Given the description of an element on the screen output the (x, y) to click on. 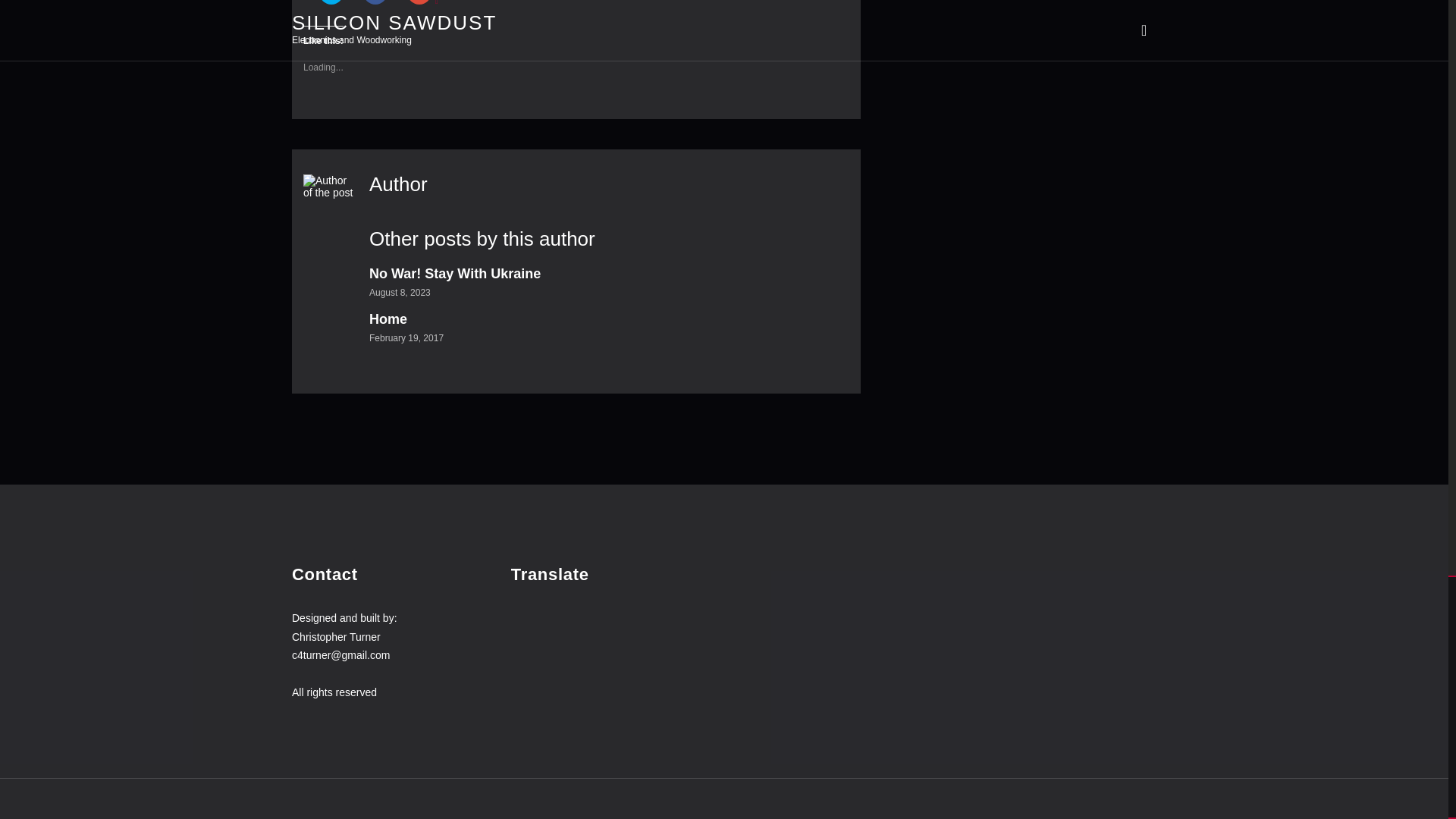
Home (388, 319)
Click to share on Twitter (330, 2)
Click to share on Facebook (374, 2)
No War! Stay With Ukraine (454, 273)
